Given the description of an element on the screen output the (x, y) to click on. 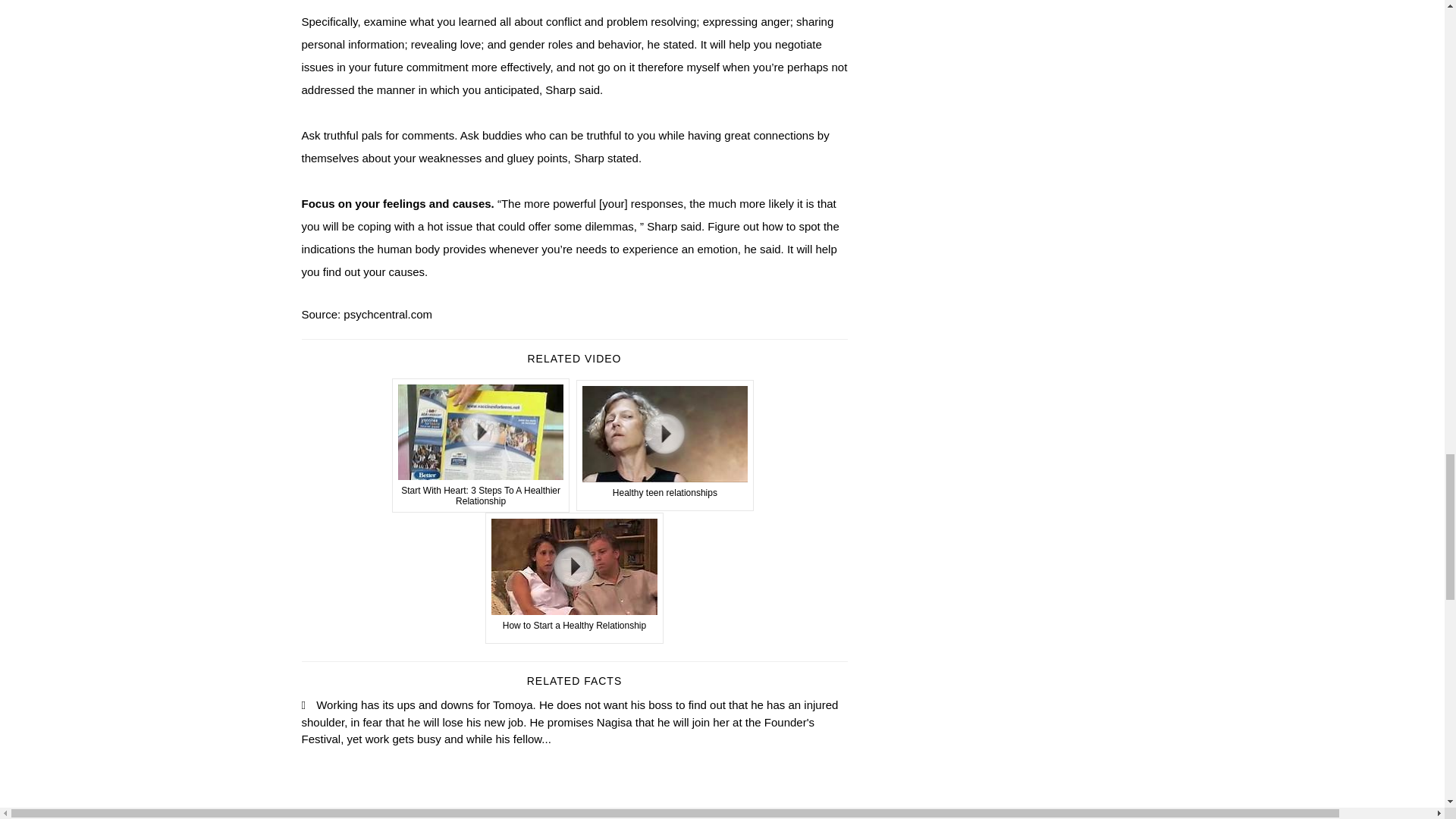
View this video from YouTube (665, 445)
View this video from Mahalo (573, 577)
Video temporarily unavailable (480, 445)
